Given the description of an element on the screen output the (x, y) to click on. 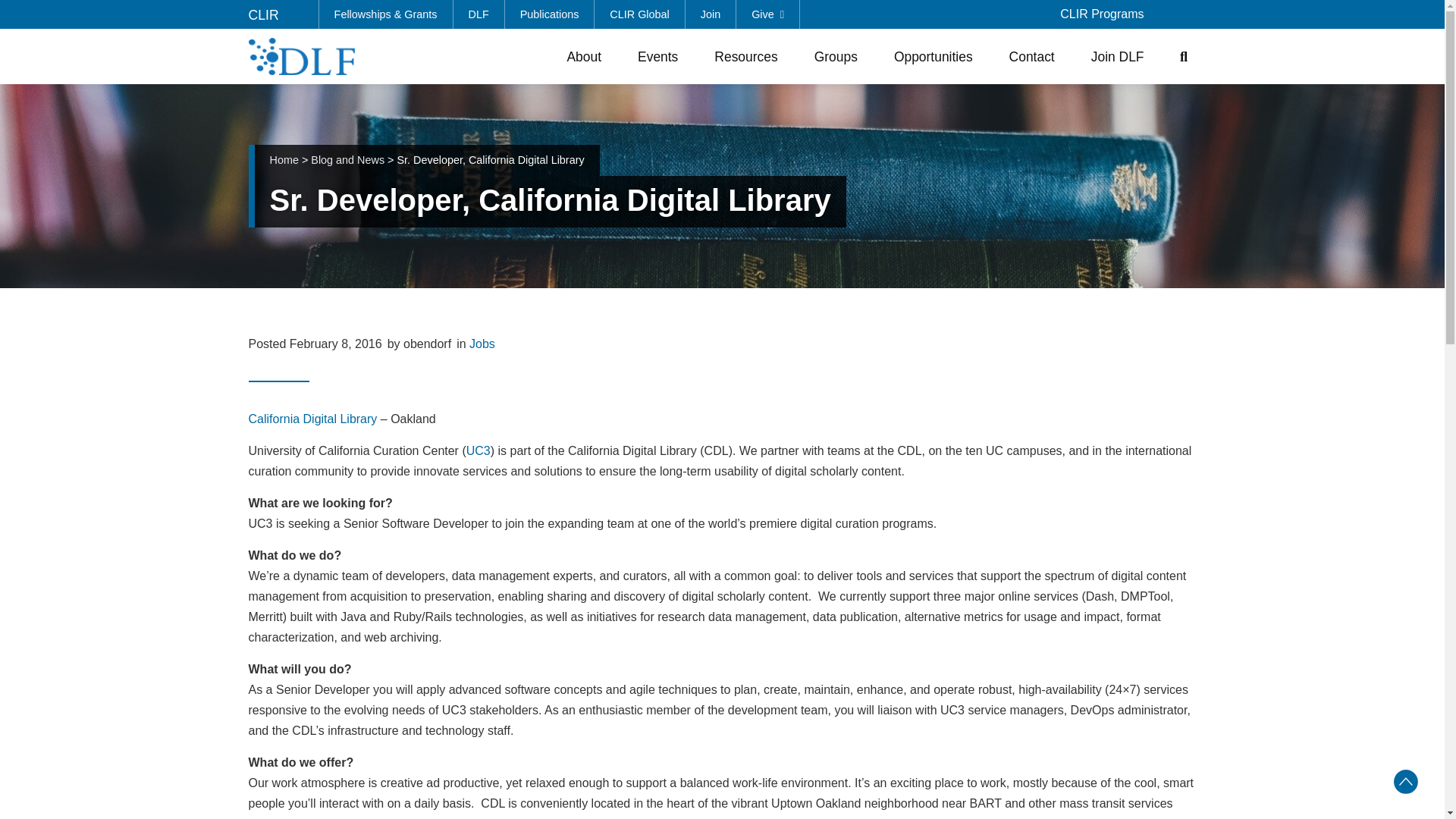
DLF (478, 14)
CLIR (263, 15)
Join (710, 14)
Resources (745, 56)
CLIR Programs (1101, 13)
Events (657, 56)
About (583, 56)
Publications (550, 14)
Give (767, 14)
CLIR Global (639, 14)
